Given the description of an element on the screen output the (x, y) to click on. 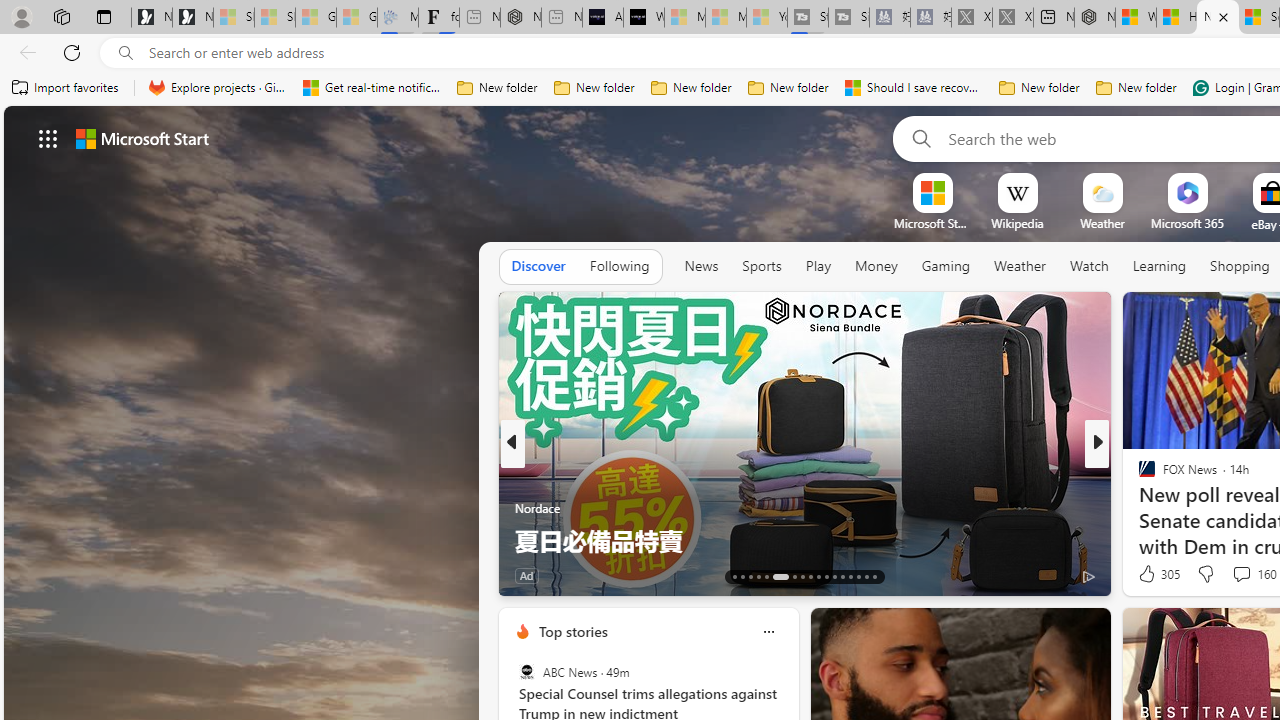
AutomationID: tab-40 (850, 576)
Money (875, 265)
